Given the description of an element on the screen output the (x, y) to click on. 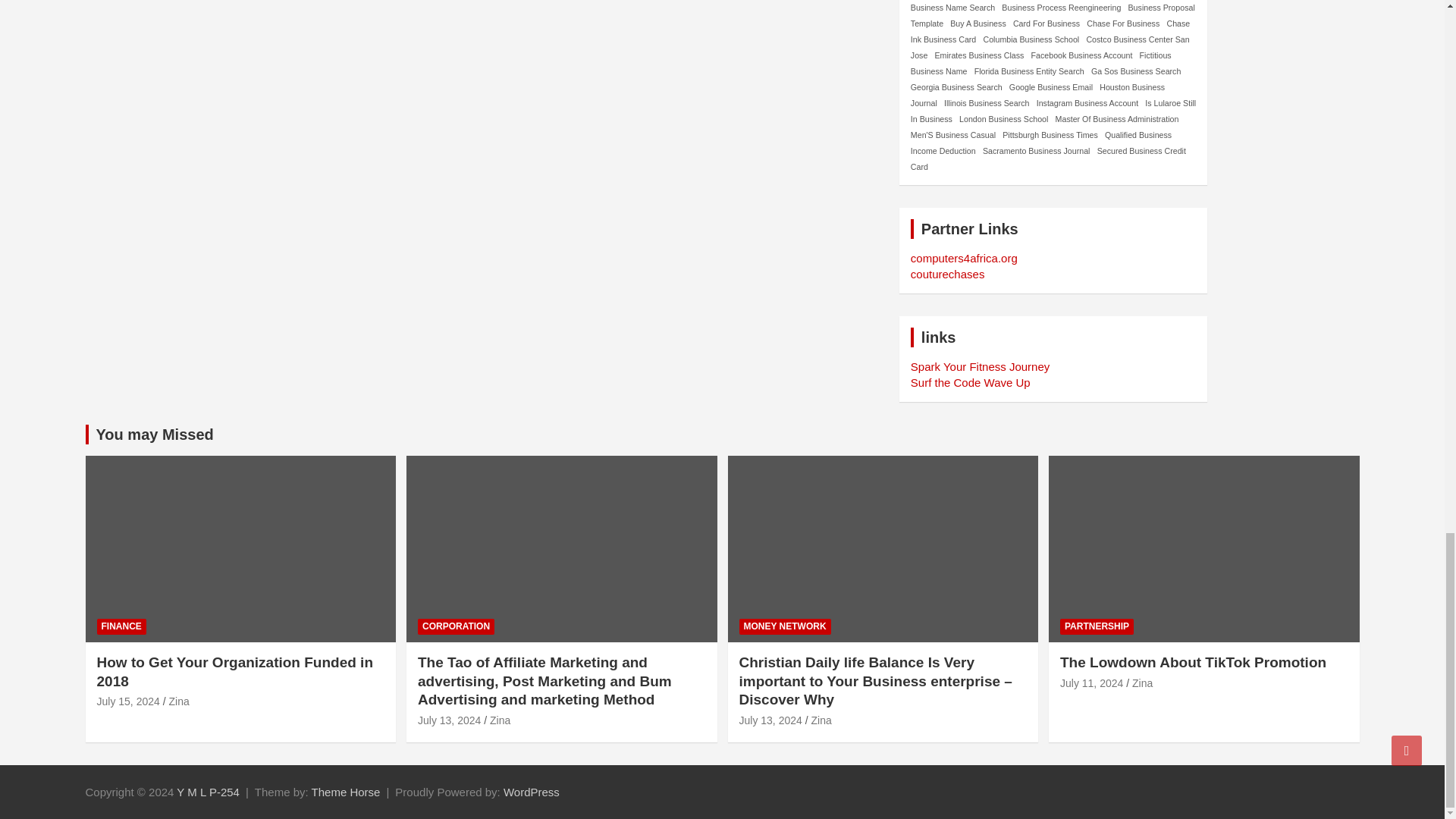
The Lowdown About TikTok Promotion (1090, 683)
Y M L P-254 (208, 791)
Theme Horse (345, 791)
How to Get Your Organization Funded in 2018 (128, 701)
